Given the description of an element on the screen output the (x, y) to click on. 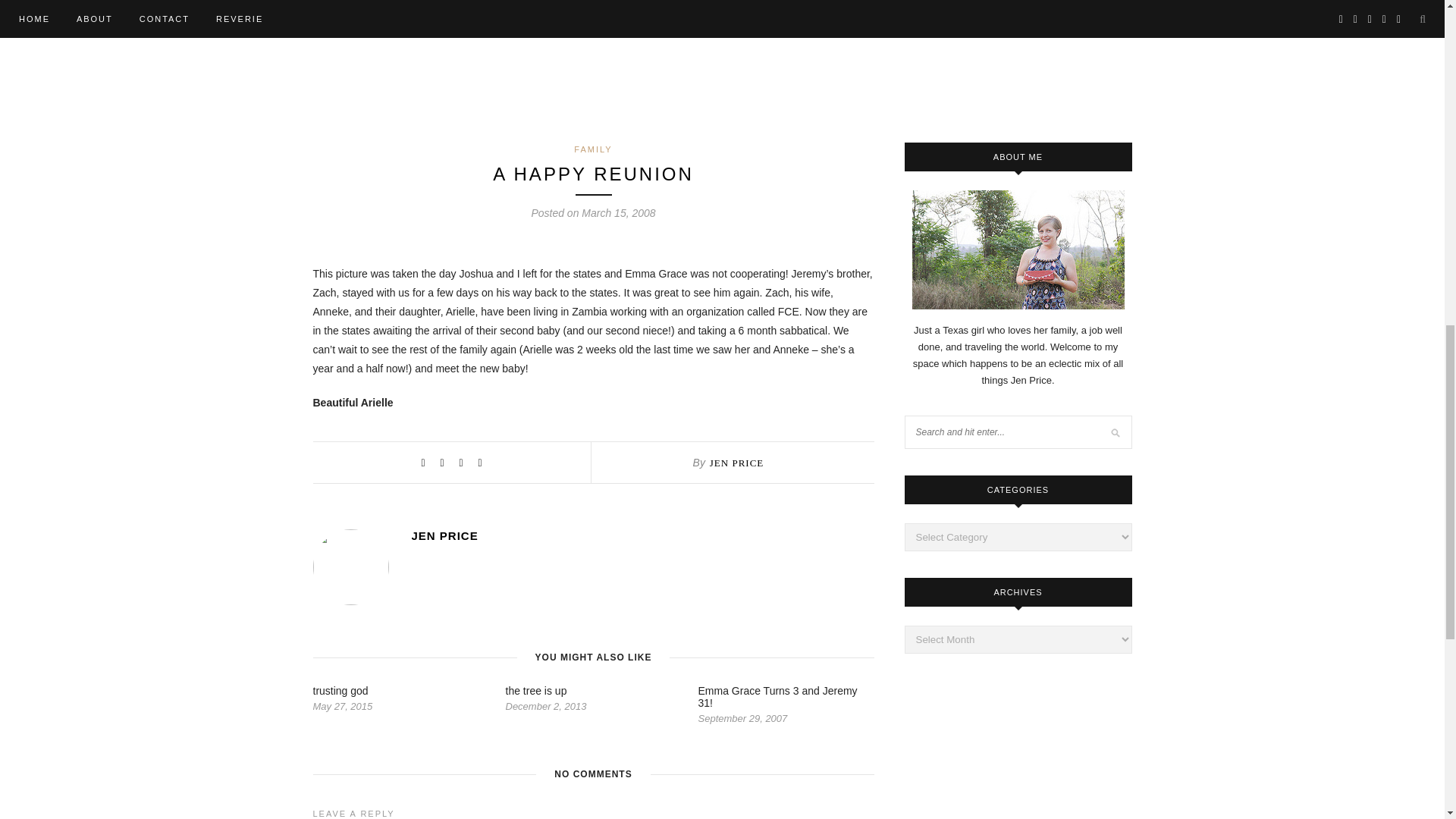
the tree is up (535, 690)
FAMILY (592, 148)
Posts by Jen Price (641, 535)
JEN PRICE (736, 462)
Emma Grace Turns 3 and Jeremy 31! (777, 696)
trusting god (340, 690)
JEN PRICE (641, 535)
Posts by Jen Price (736, 462)
